Given the description of an element on the screen output the (x, y) to click on. 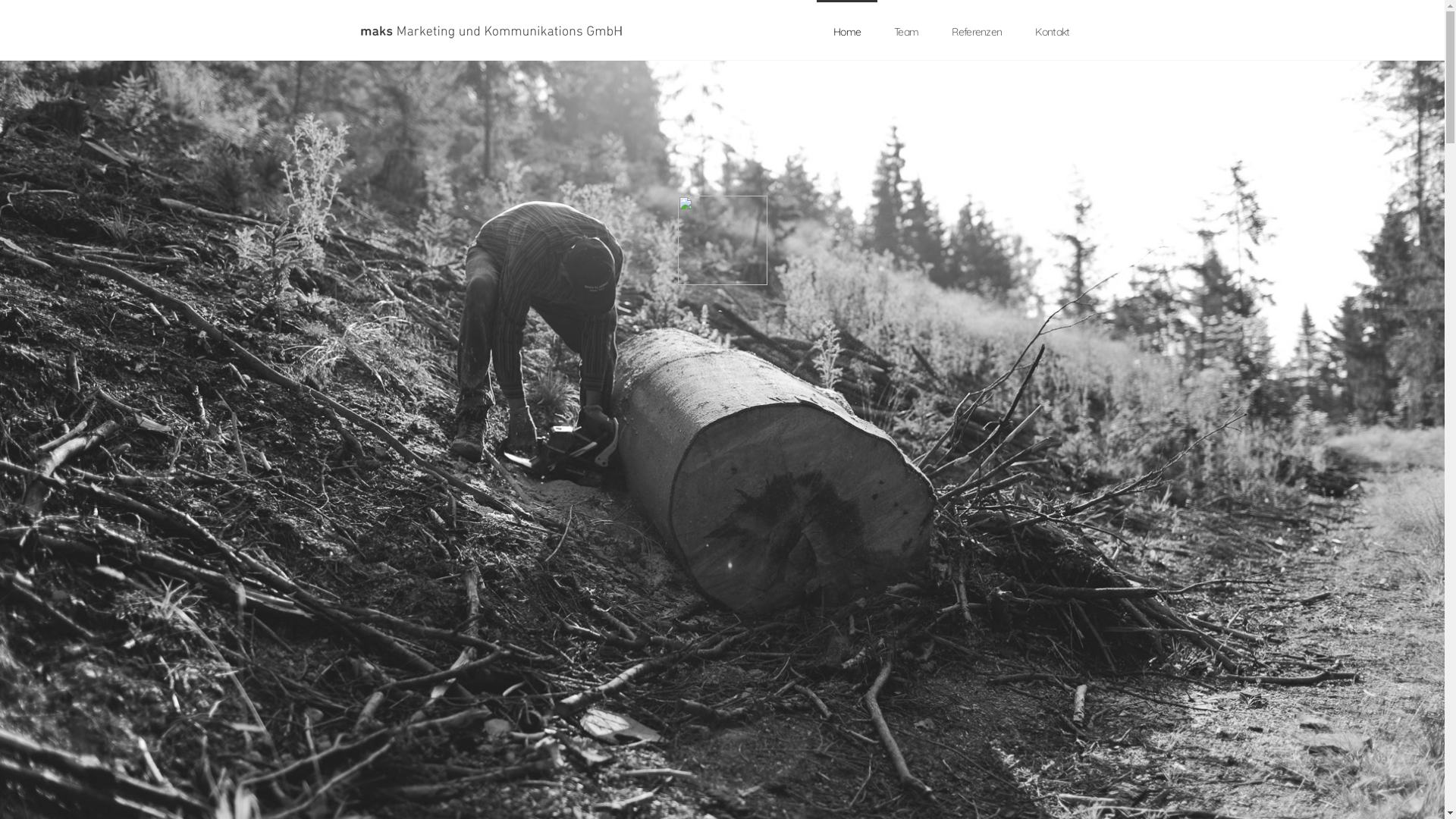
Home Element type: text (846, 31)
Referenzen Element type: text (976, 31)
Kontakt Element type: text (1051, 31)
Team Element type: text (906, 31)
